Given the description of an element on the screen output the (x, y) to click on. 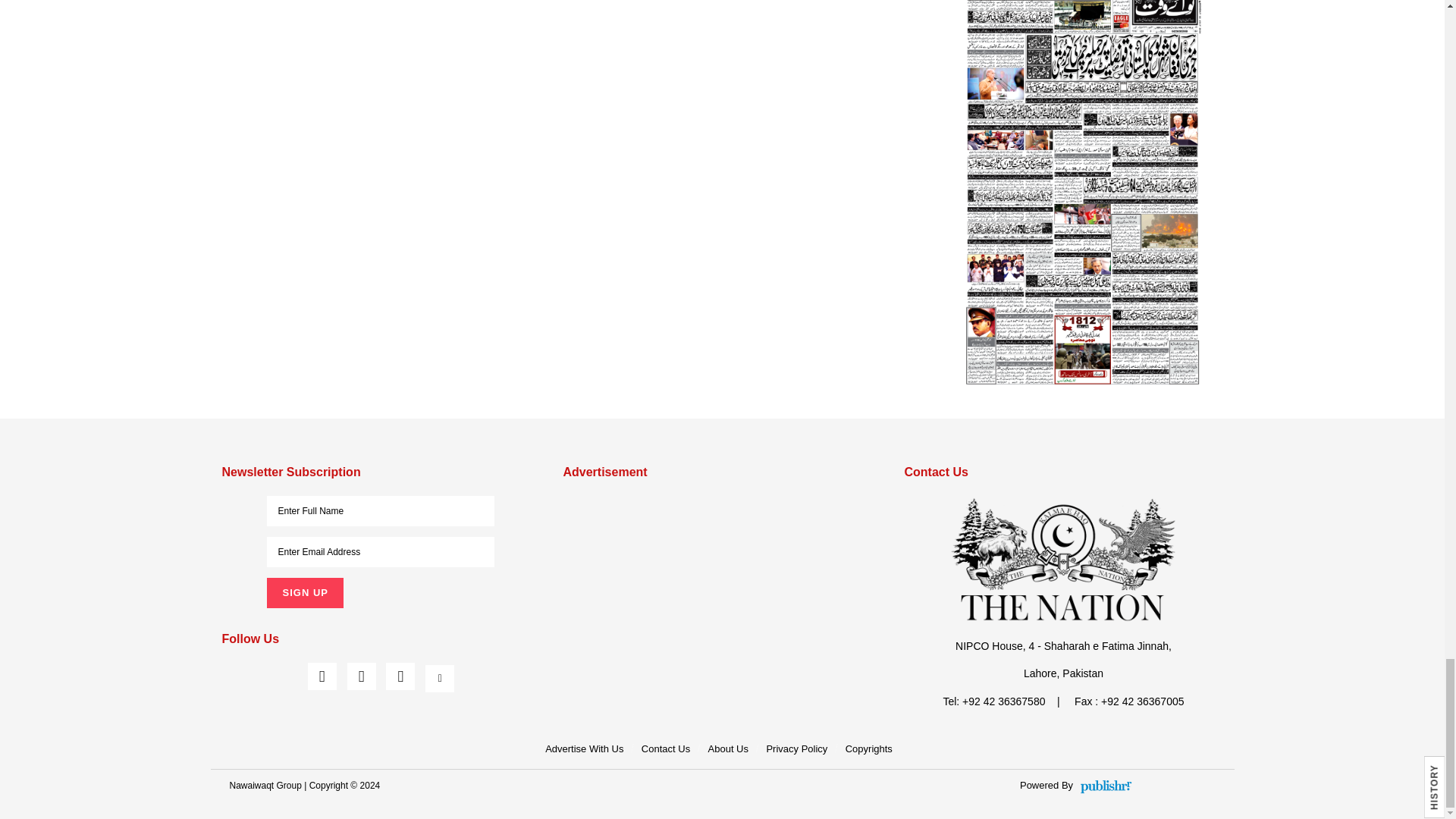
Sign up (304, 593)
